Given the description of an element on the screen output the (x, y) to click on. 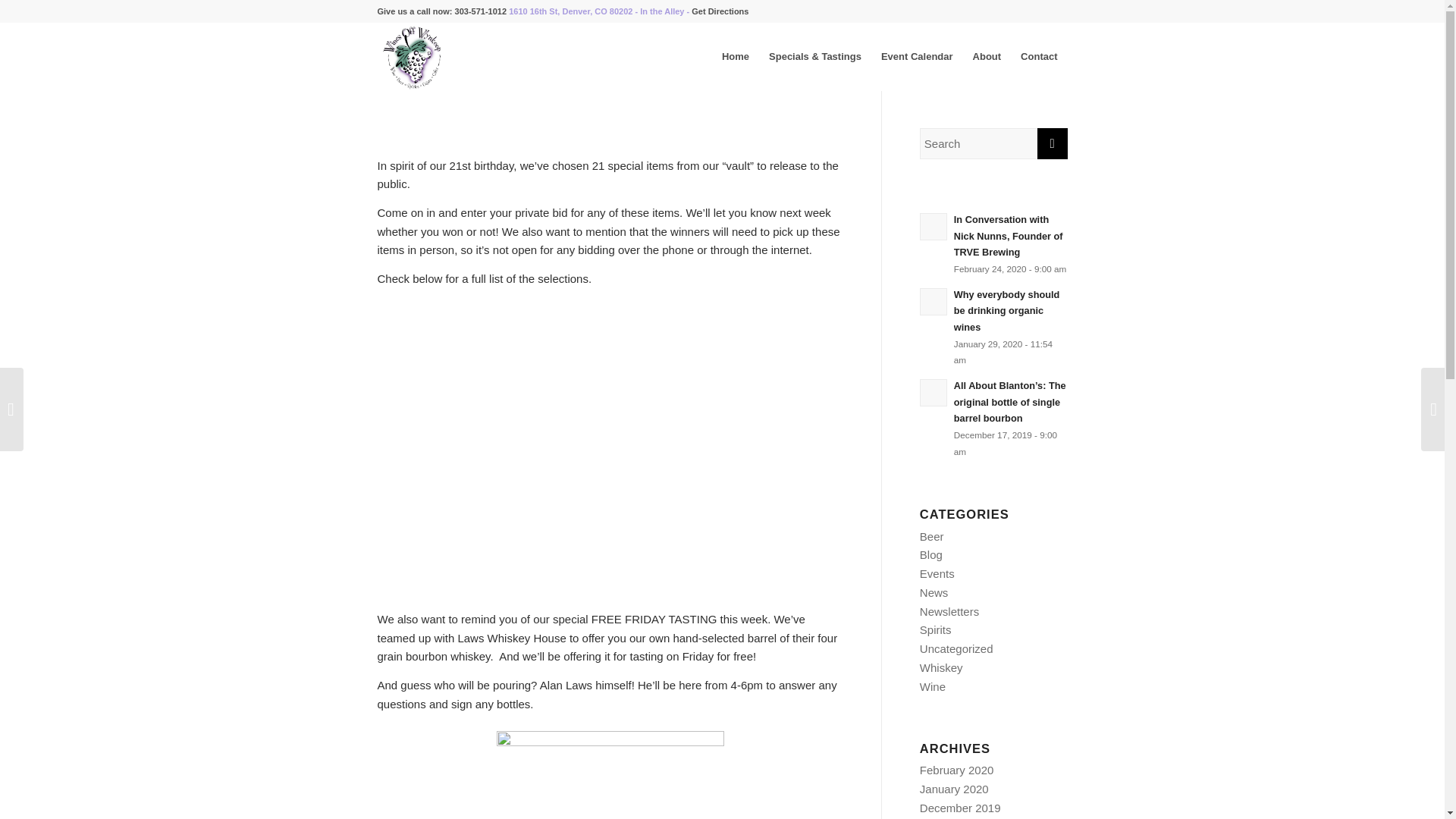
Blog (931, 554)
Wine (932, 686)
News (934, 592)
Get Directions (719, 10)
Events (937, 573)
Give us a call now: 303-571-1012 (441, 10)
Newsletters (949, 611)
February 2020 (957, 769)
Why everybody should be drinking organic wines (993, 326)
